Given the description of an element on the screen output the (x, y) to click on. 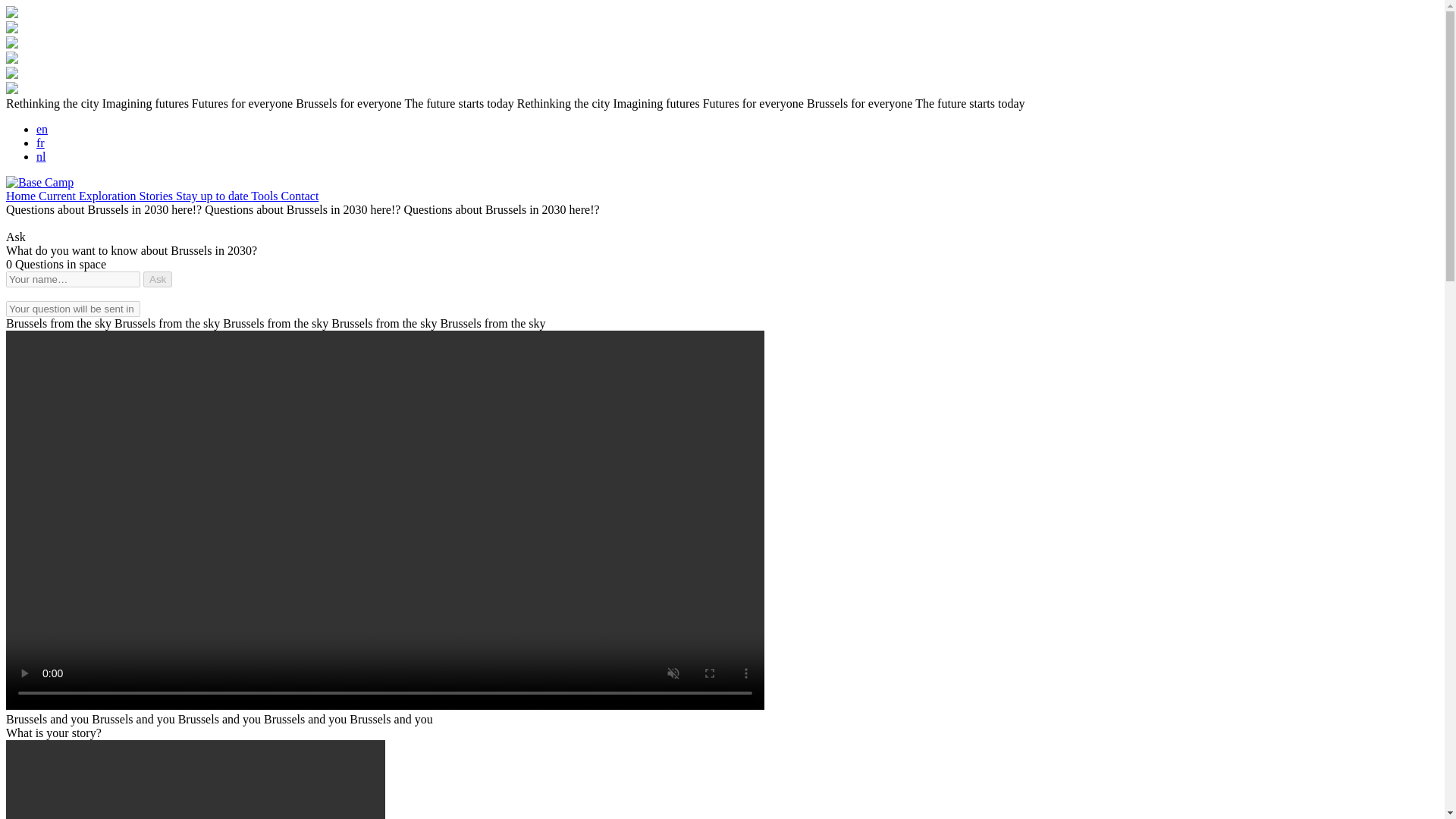
Ask (156, 279)
Current Exploration (88, 195)
Contact (299, 195)
fr (40, 142)
Home (22, 195)
en (42, 128)
Tools (265, 195)
Stay up to date (213, 195)
nl (40, 155)
Stories (157, 195)
